Given the description of an element on the screen output the (x, y) to click on. 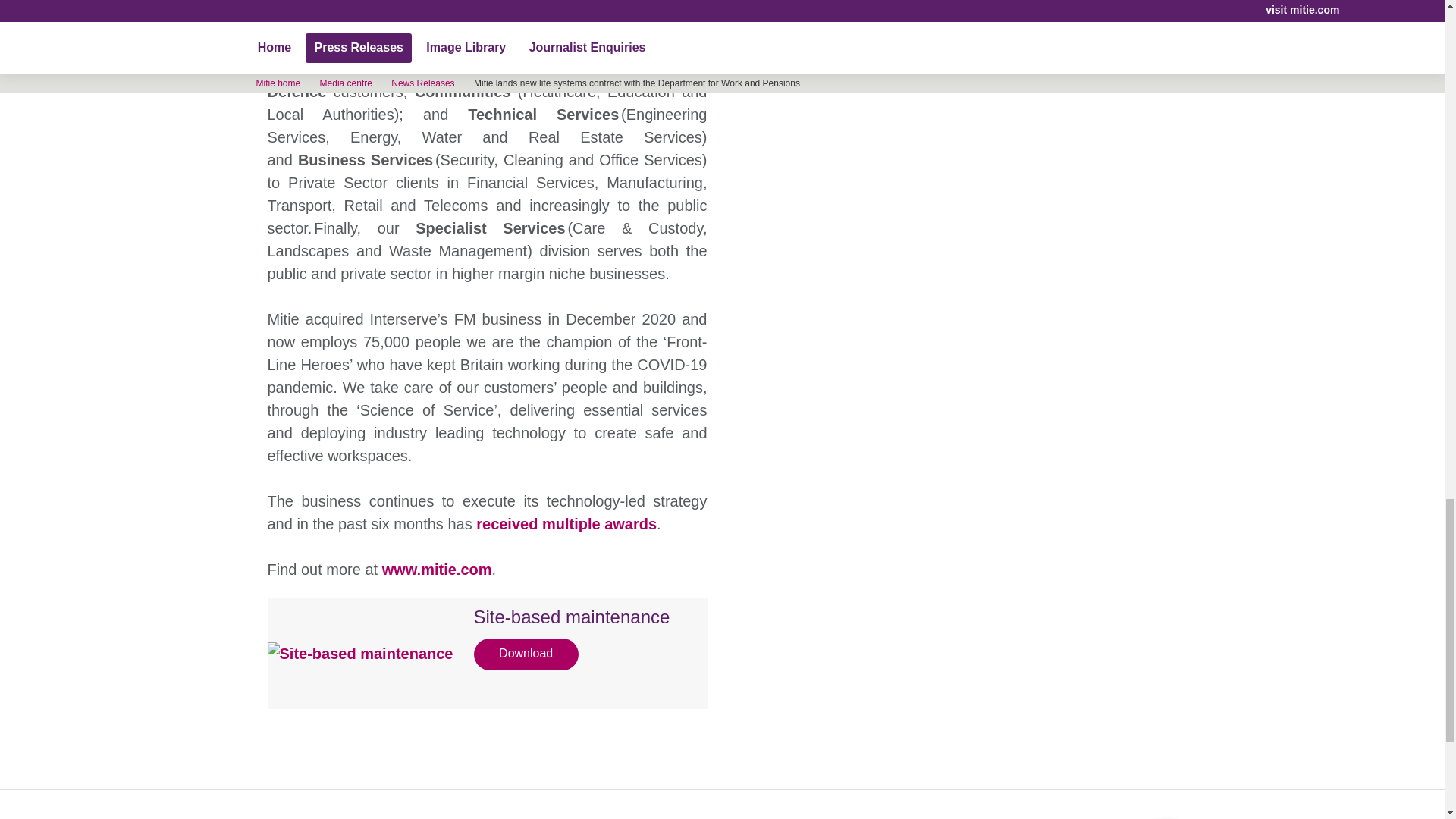
Download (525, 653)
Site-based maintenance (574, 632)
www.mitie.com (436, 569)
received multiple awards (566, 523)
